Given the description of an element on the screen output the (x, y) to click on. 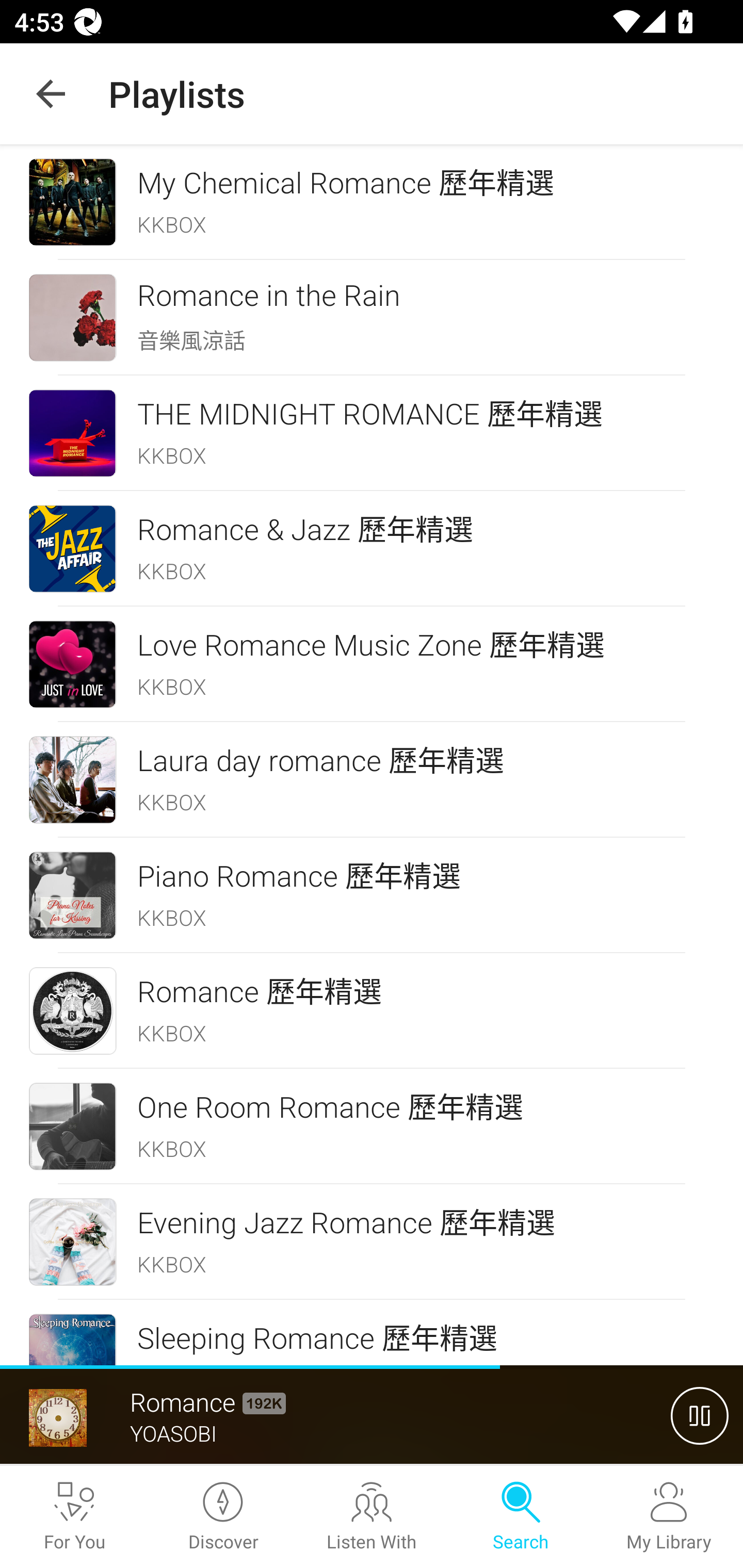
Navigate up (50, 93)
My Chemical Romance 歷年精選 KKBOX (371, 202)
Romance in the Rain 音樂風涼話 (371, 317)
THE MIDNIGHT ROMANCE 歷年精選 KKBOX (371, 432)
Romance & Jazz 歷年精選 KKBOX (371, 548)
Love Romance Music Zone 歷年精選 KKBOX (371, 664)
Laura day romance 歷年精選 KKBOX (371, 779)
Piano Romance 歷年精選 KKBOX (371, 895)
Romance 歷年精選 KKBOX (371, 1011)
One Room Romance 歷年精選 KKBOX (371, 1126)
Evening Jazz Romance 歷年精選 KKBOX (371, 1241)
Sleeping Romance 歷年精選 KKBOX (371, 1332)
暫停播放 (699, 1415)
For You (74, 1517)
Discover (222, 1517)
Listen With (371, 1517)
Search (519, 1517)
My Library (668, 1517)
